Given the description of an element on the screen output the (x, y) to click on. 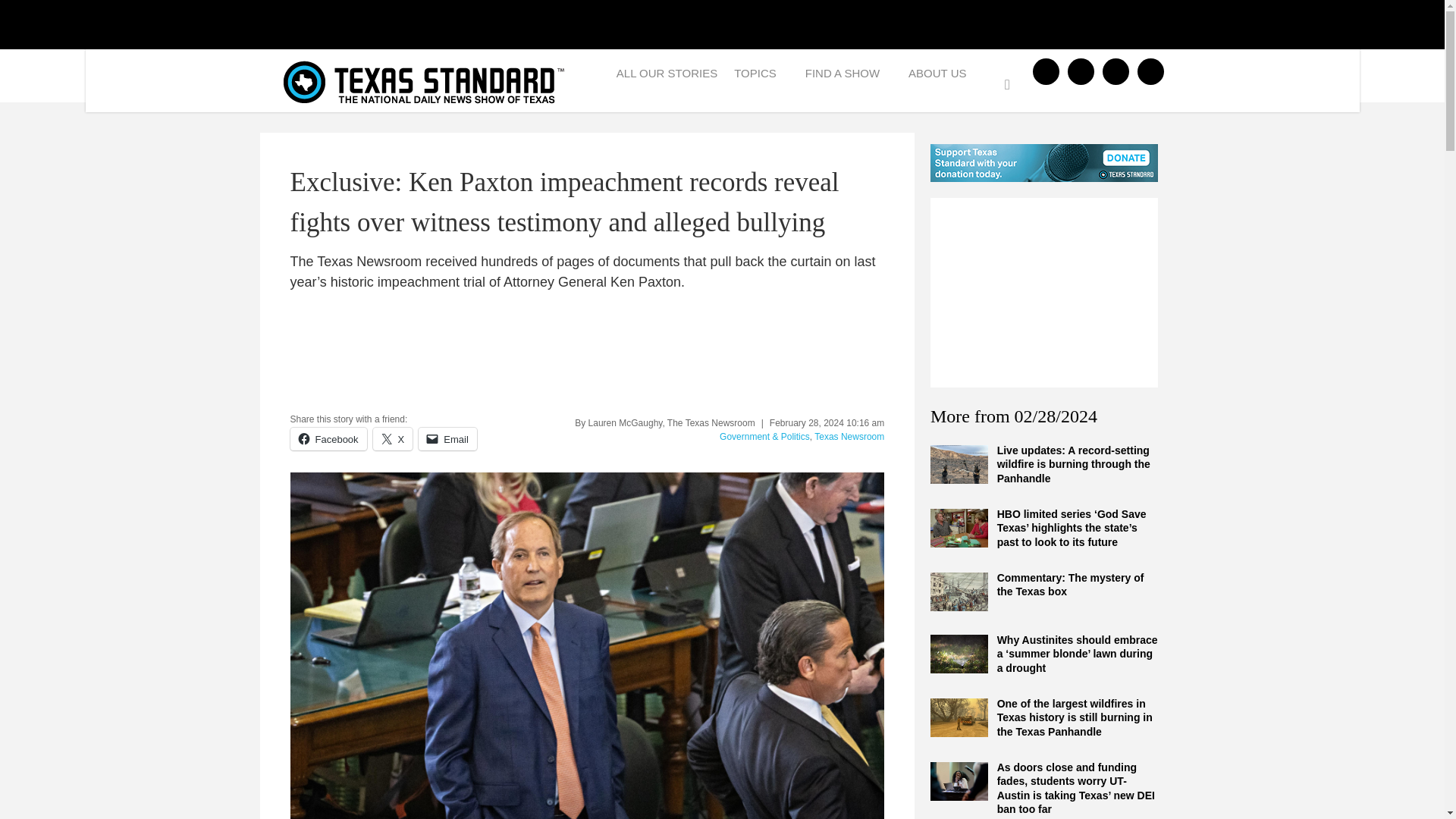
Click to share on X (392, 438)
TOPICS (761, 77)
Click to share on Facebook (327, 438)
ALL OUR STORIES (666, 77)
Click to email a link to a friend (448, 438)
